Given the description of an element on the screen output the (x, y) to click on. 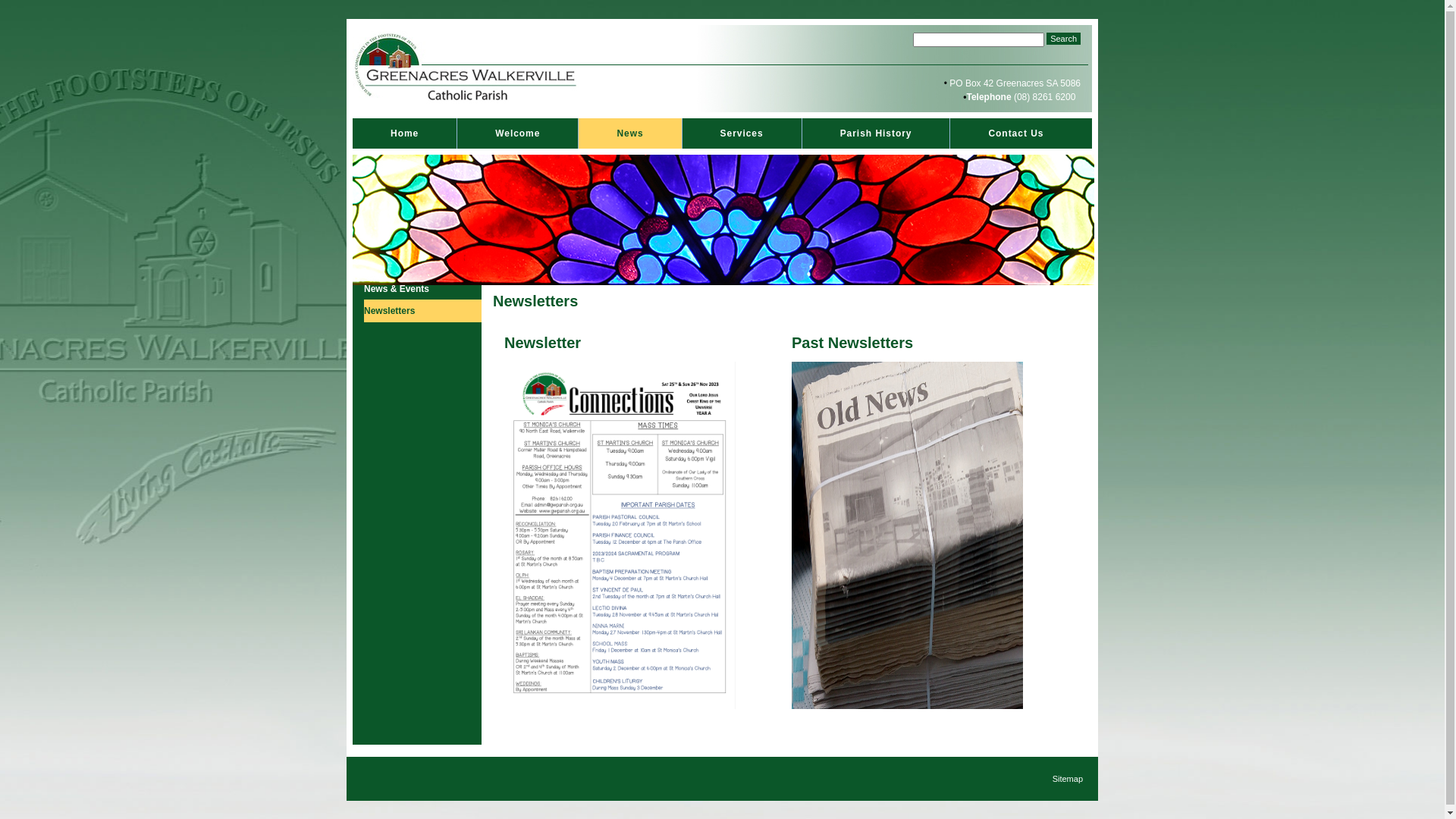
Contact Us Element type: text (1015, 133)
News & Events Element type: text (422, 288)
News Element type: text (629, 133)
Home Element type: text (404, 133)
StMonicasHeaderLogo.jpg Element type: hover (466, 68)
Sitemap Element type: text (1067, 778)
Services Element type: text (741, 133)
Search Element type: text (1063, 38)
Banner1.jpg Element type: hover (723, 219)
Welcome Element type: text (517, 133)
Parish History Element type: text (876, 133)
Newsletters Element type: text (422, 310)
